Given the description of an element on the screen output the (x, y) to click on. 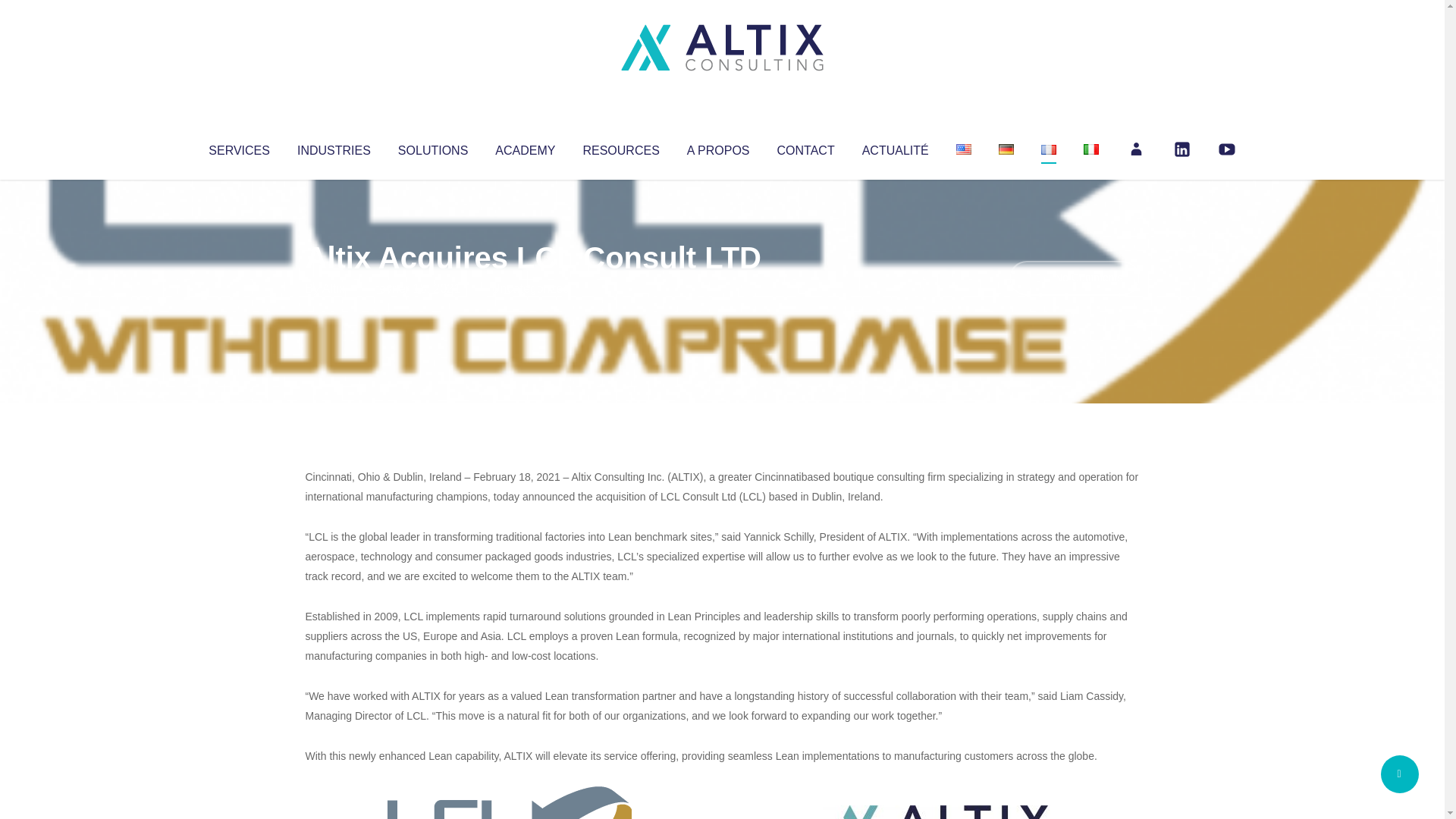
A PROPOS (718, 146)
SERVICES (238, 146)
ACADEMY (524, 146)
INDUSTRIES (334, 146)
RESOURCES (620, 146)
Altix (333, 287)
No Comments (1073, 278)
SOLUTIONS (432, 146)
Articles par Altix (333, 287)
Uncategorized (530, 287)
